Given the description of an element on the screen output the (x, y) to click on. 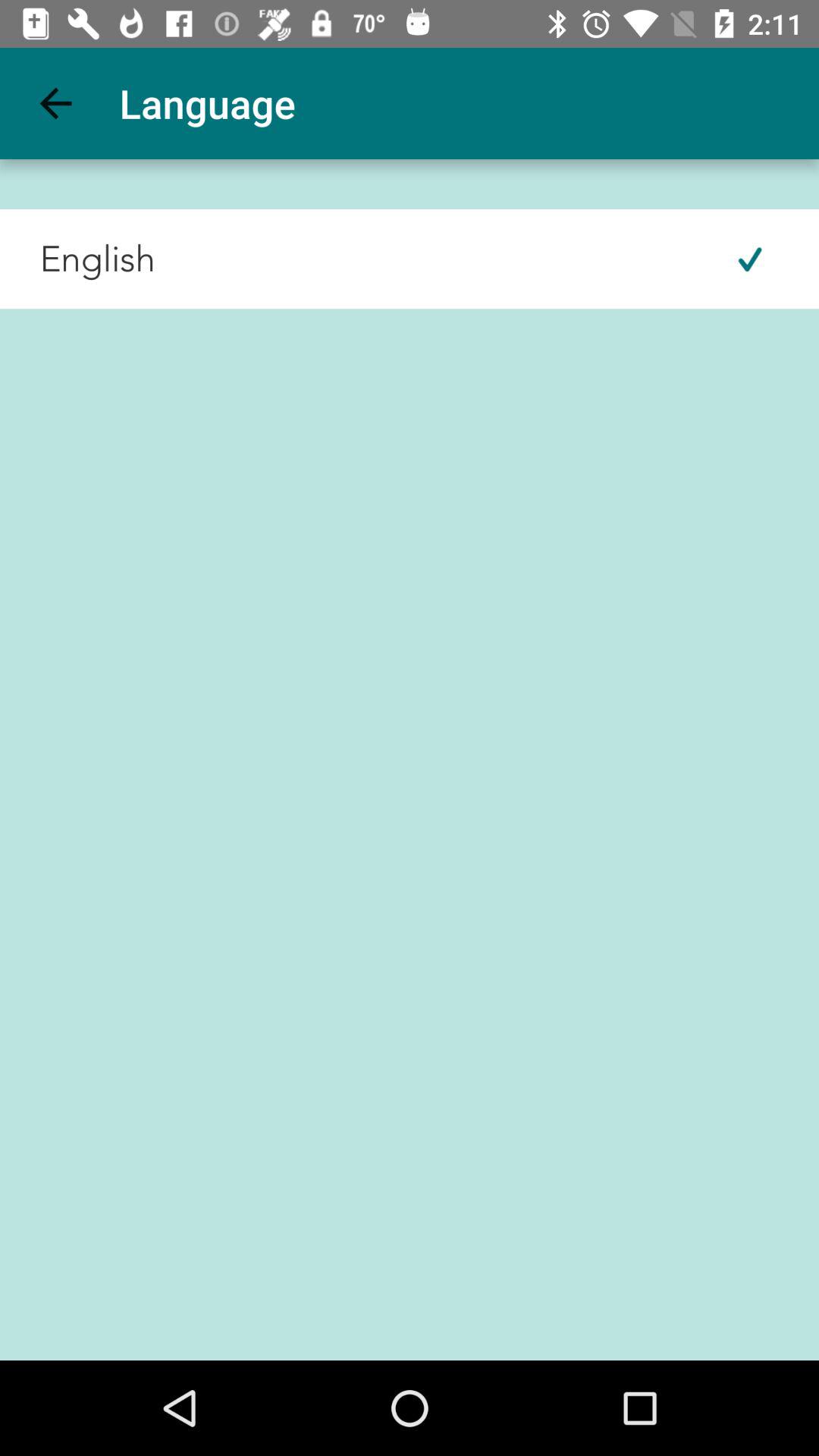
choose the english (77, 258)
